Given the description of an element on the screen output the (x, y) to click on. 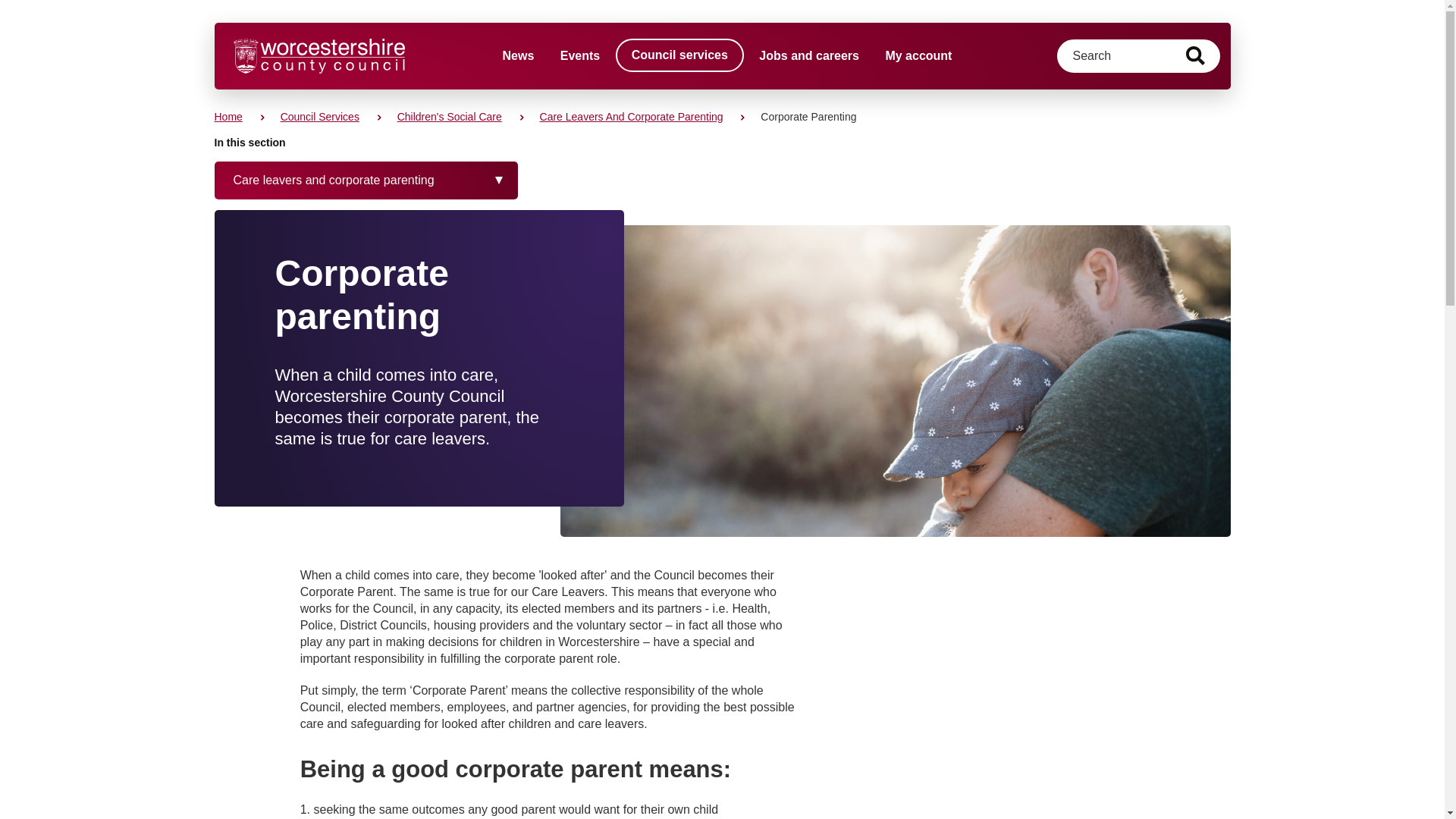
Search (1196, 56)
My account (918, 55)
Jobs and careers (808, 55)
News (518, 55)
Events (580, 55)
Search (1196, 56)
Council services (679, 55)
